Given the description of an element on the screen output the (x, y) to click on. 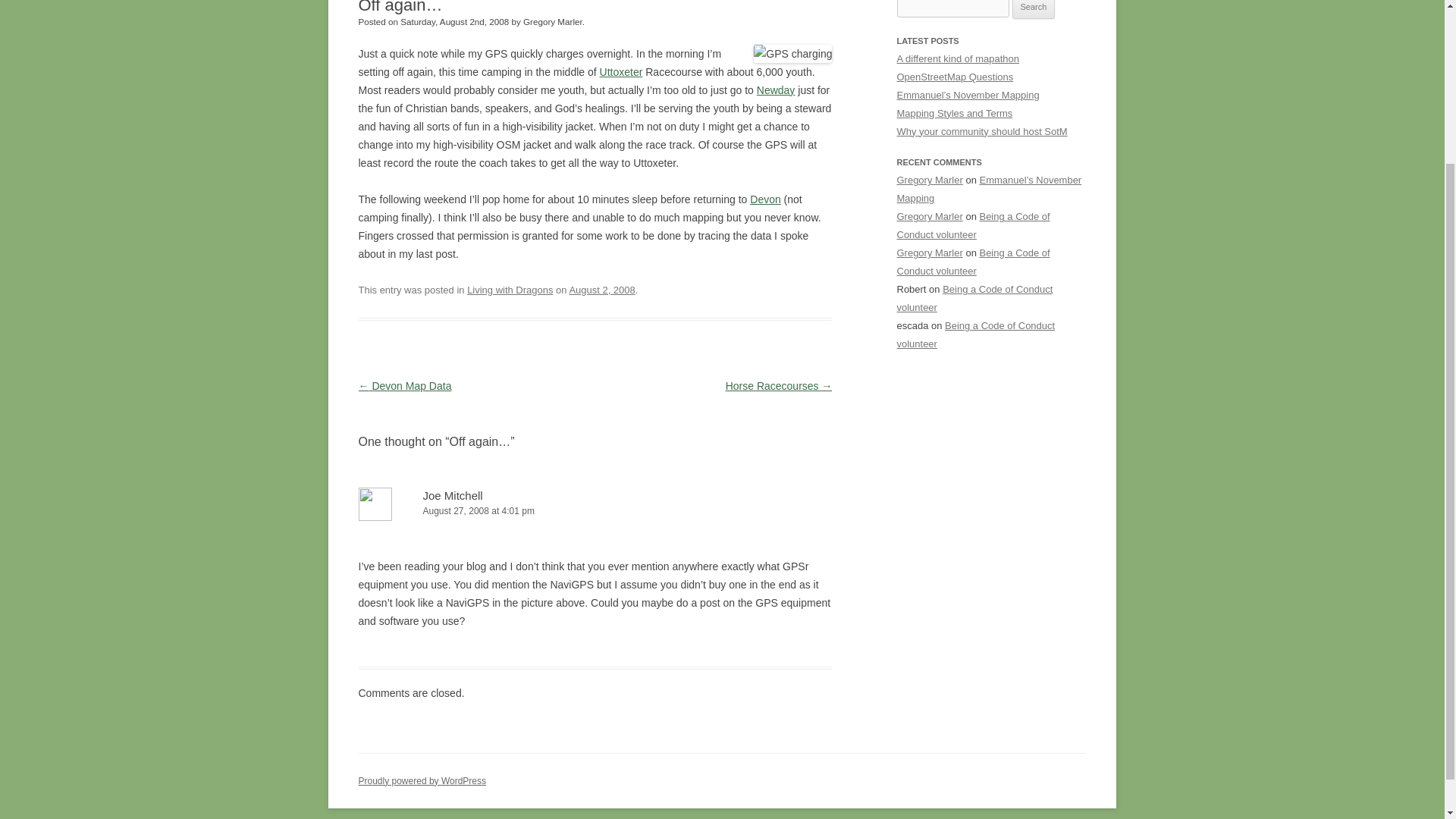
Being a Code of Conduct volunteer (975, 334)
Uttoxeter (621, 71)
Search (1033, 9)
OpenStreetMap Questions (954, 76)
Being a Code of Conduct volunteer (972, 225)
Devon (764, 199)
Search (1033, 9)
A different kind of mapathon (956, 58)
Gregory Marler (929, 179)
Gregory Marler (929, 215)
